Given the description of an element on the screen output the (x, y) to click on. 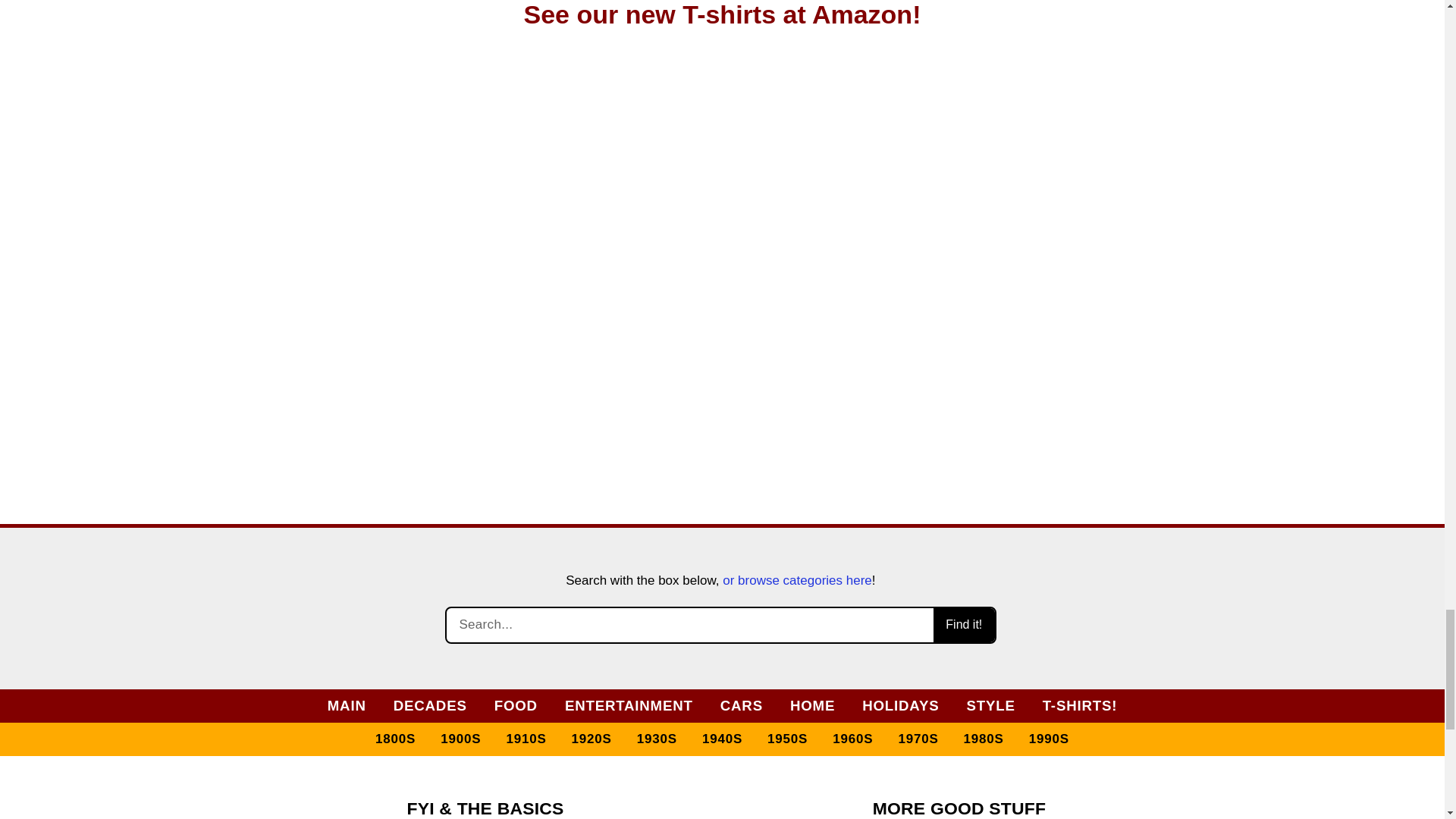
Vintage-look HAWAII sunset distressed look T-Shirt (839, 254)
Vintage-look ARIZONA sunset distressed look T-Shirt (1074, 254)
